Given the description of an element on the screen output the (x, y) to click on. 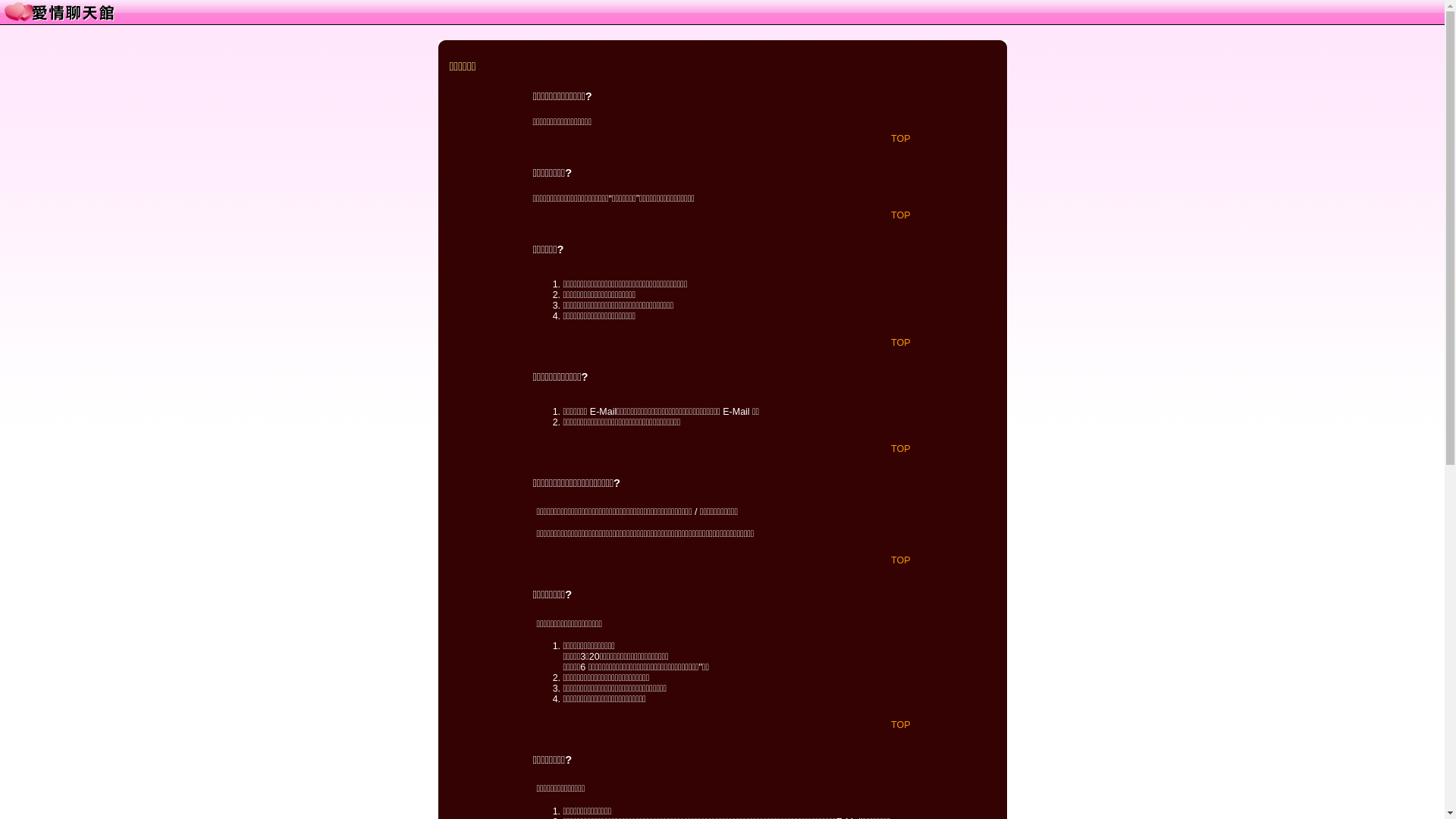
TOP Element type: text (900, 447)
TOP Element type: text (900, 138)
TOP Element type: text (900, 342)
TOP Element type: text (900, 215)
TOP Element type: text (900, 724)
TOP Element type: text (900, 560)
